Given the description of an element on the screen output the (x, y) to click on. 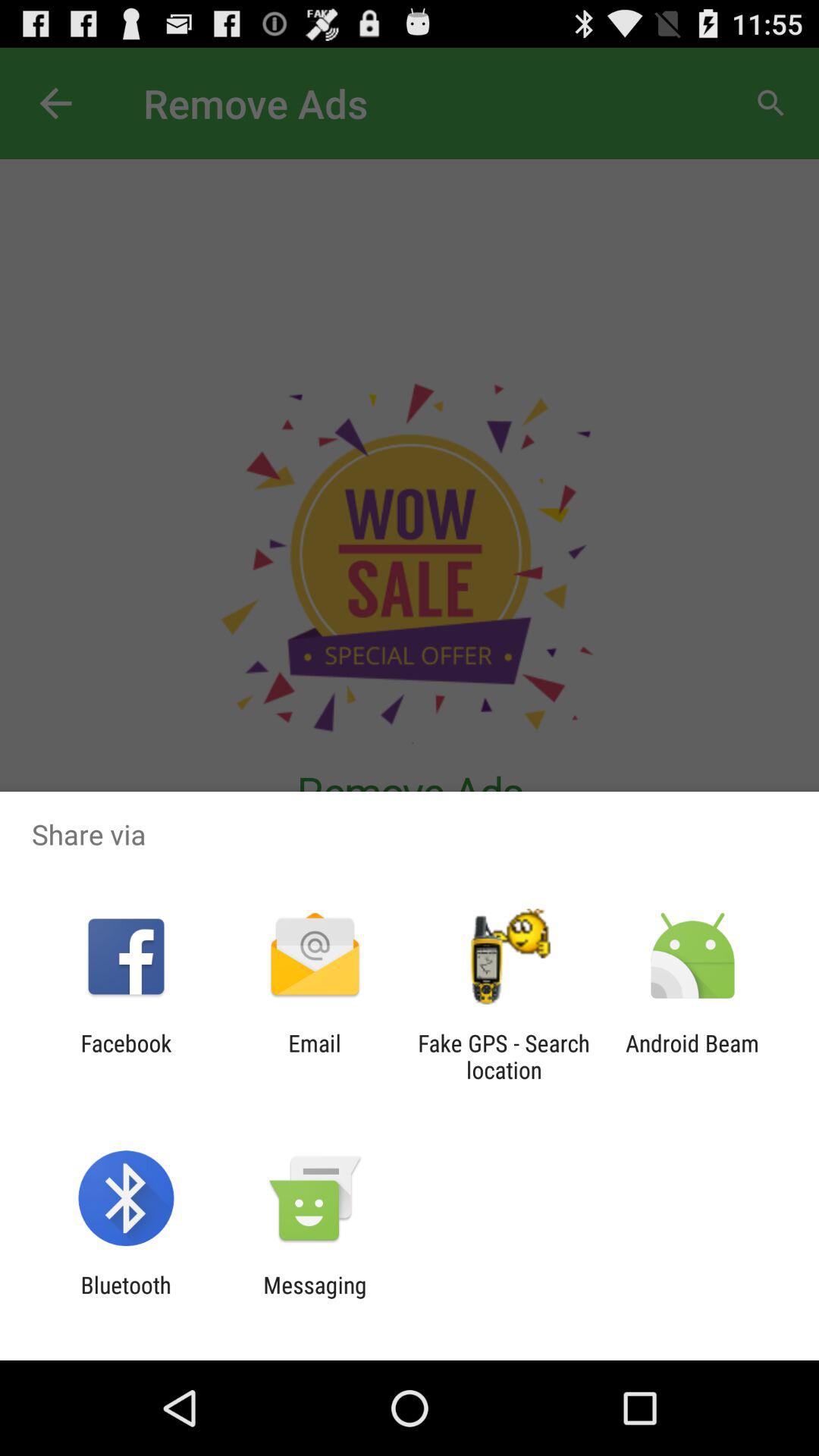
jump until fake gps search icon (503, 1056)
